Given the description of an element on the screen output the (x, y) to click on. 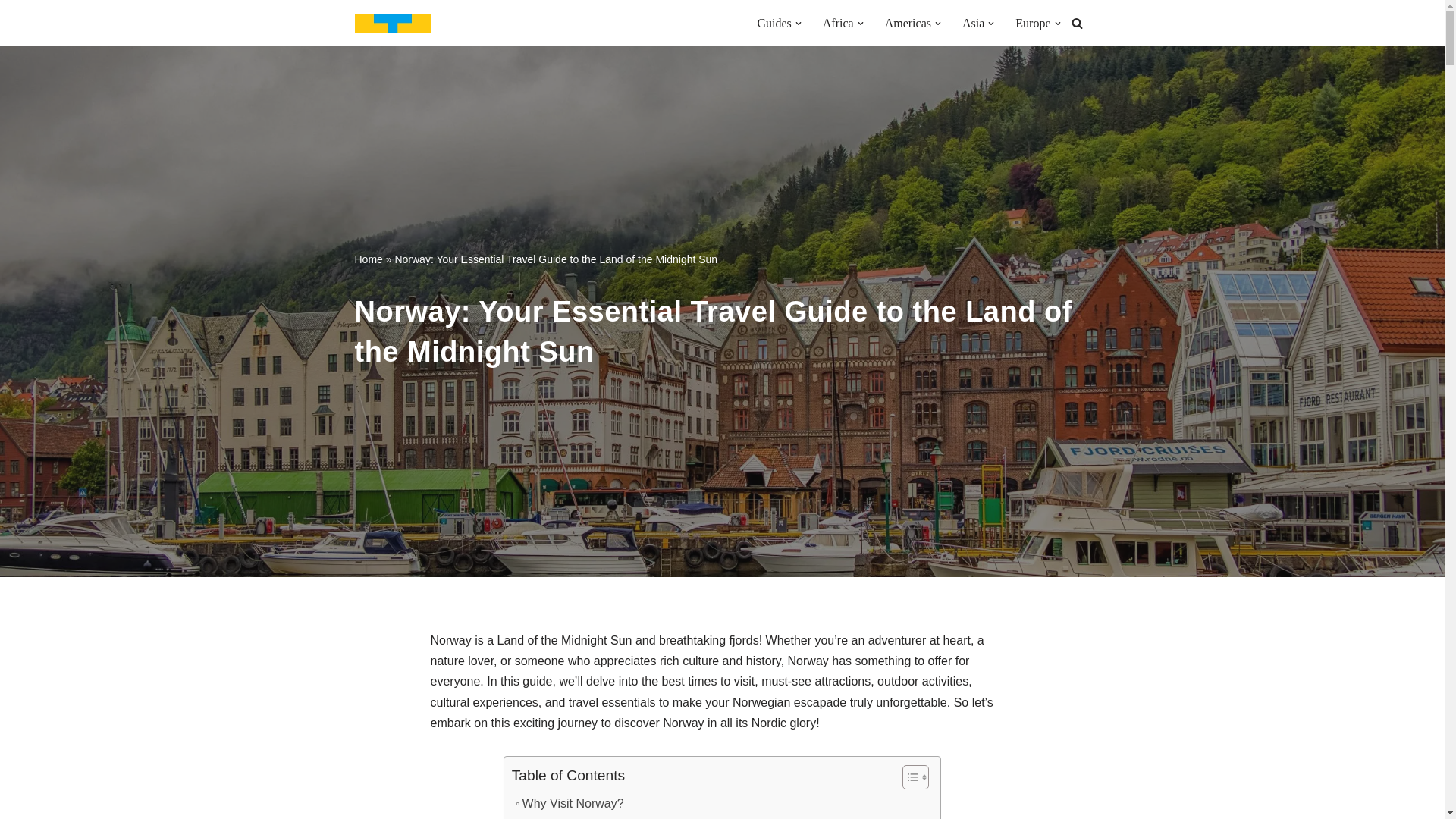
Natural Beauty (574, 818)
Why Visit Norway? (569, 803)
Guides (773, 23)
Skip to content (11, 31)
Africa (837, 23)
